Given the description of an element on the screen output the (x, y) to click on. 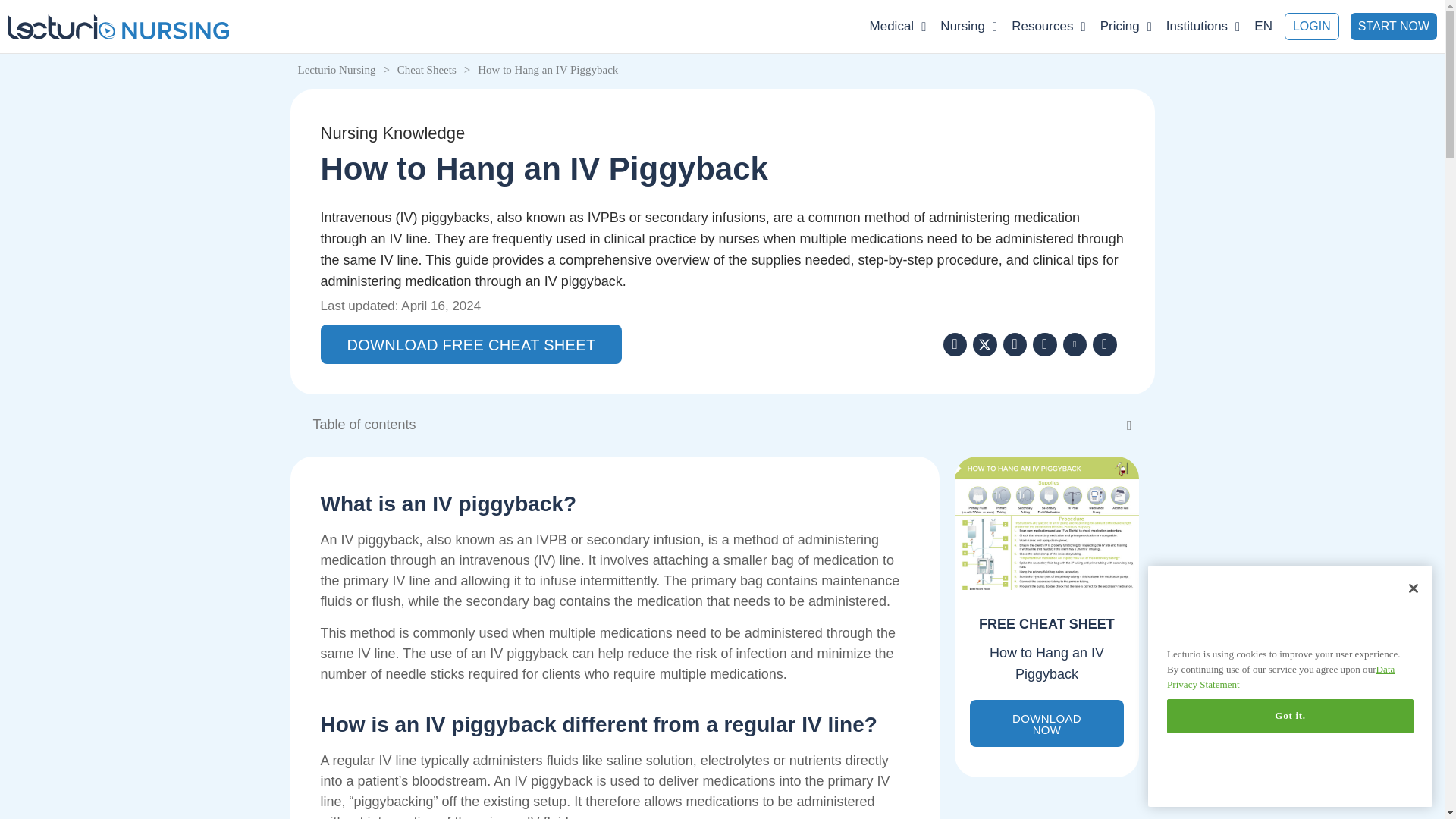
Medical (897, 26)
